Given the description of an element on the screen output the (x, y) to click on. 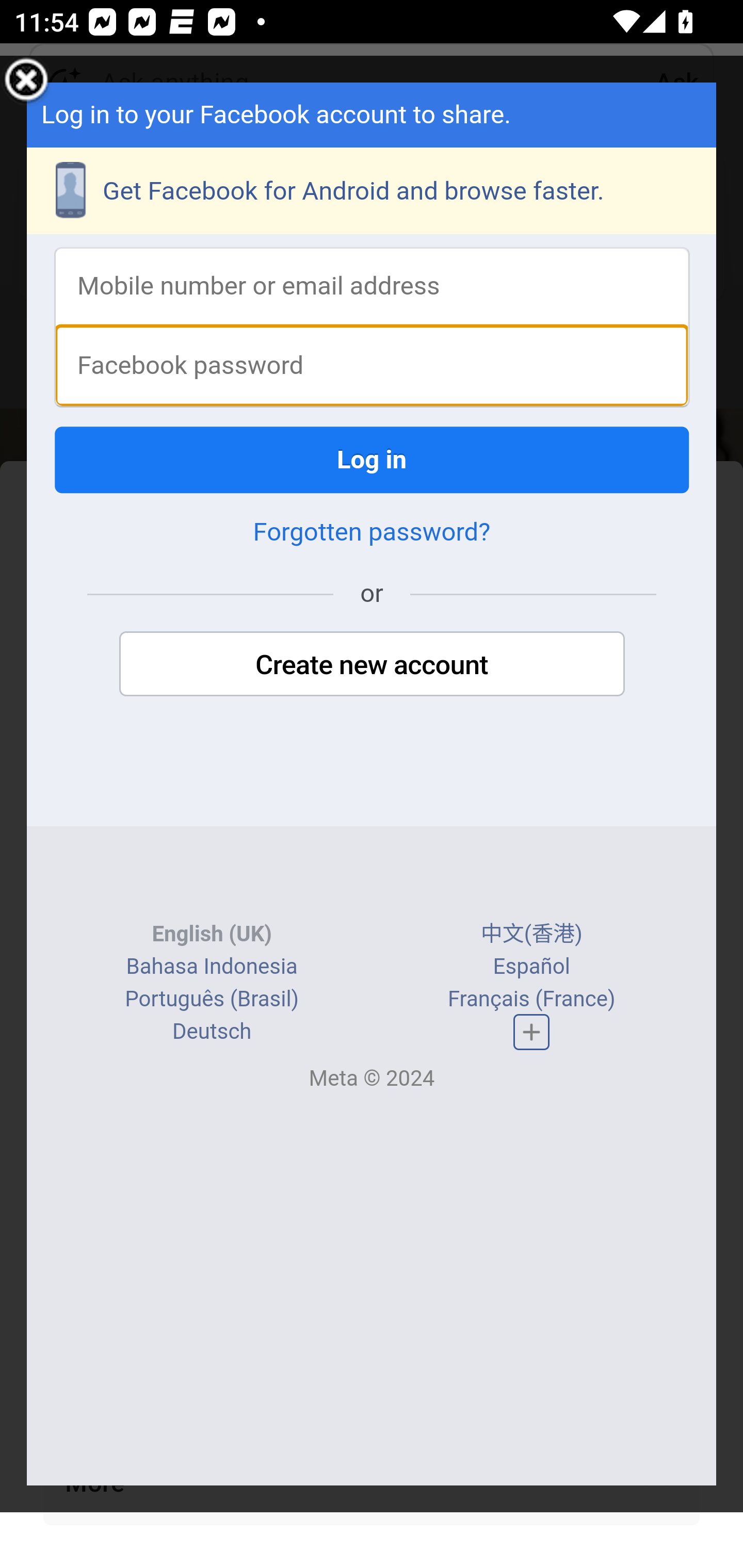
Get Facebook for Android and browse faster. (372, 190)
Log in (372, 458)
Forgotten password? (371, 531)
Create new account (371, 664)
中文(香港) (531, 933)
Bahasa Indonesia (210, 966)
Español (530, 966)
Português (Brasil) (211, 997)
Français (France) (530, 997)
Complete list of languages (531, 1032)
Deutsch (211, 1030)
